Given the description of an element on the screen output the (x, y) to click on. 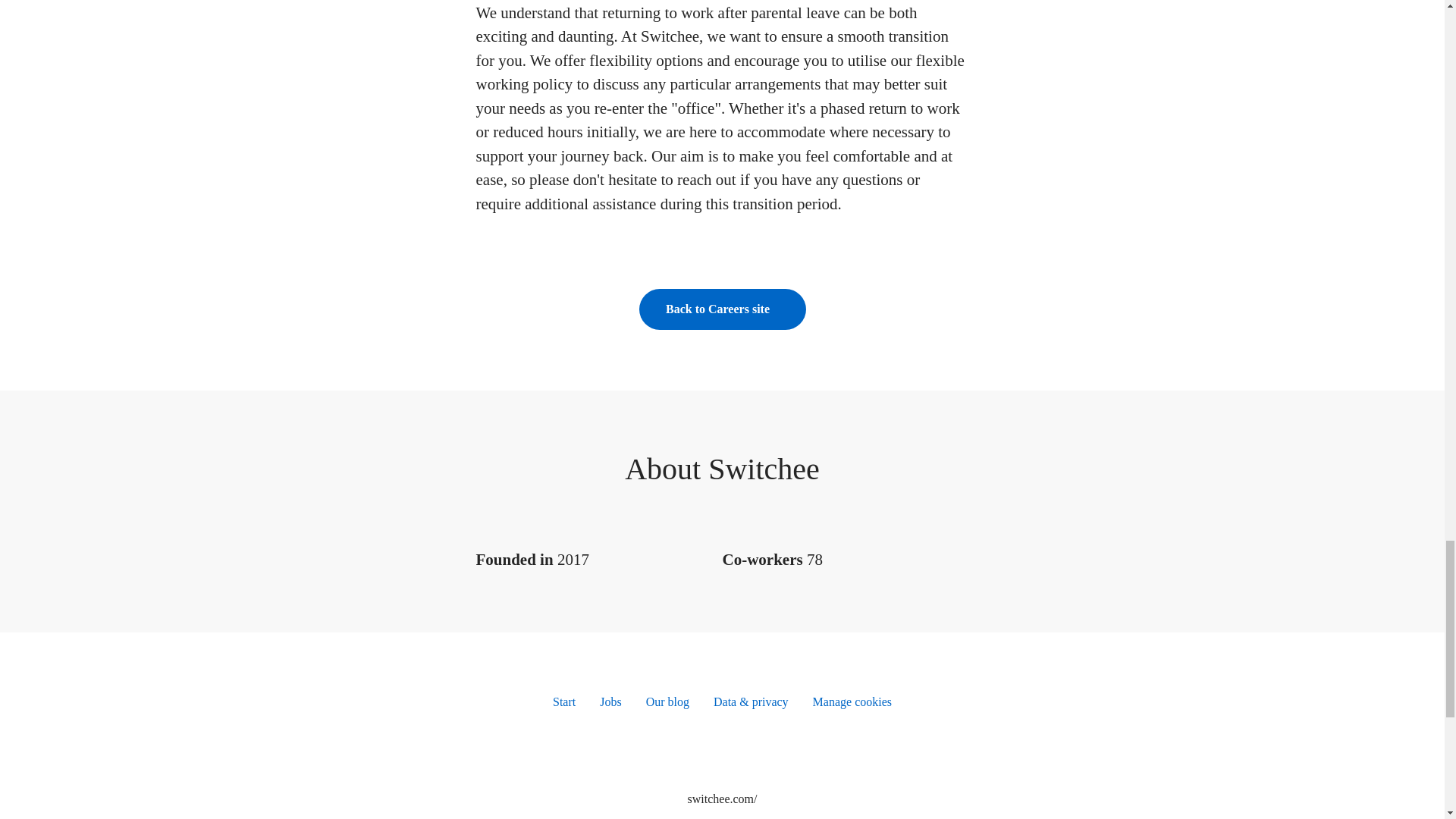
Manage cookies (852, 701)
Our blog (667, 701)
Start (564, 701)
Jobs (610, 701)
Back to Careers site (722, 309)
